Given the description of an element on the screen output the (x, y) to click on. 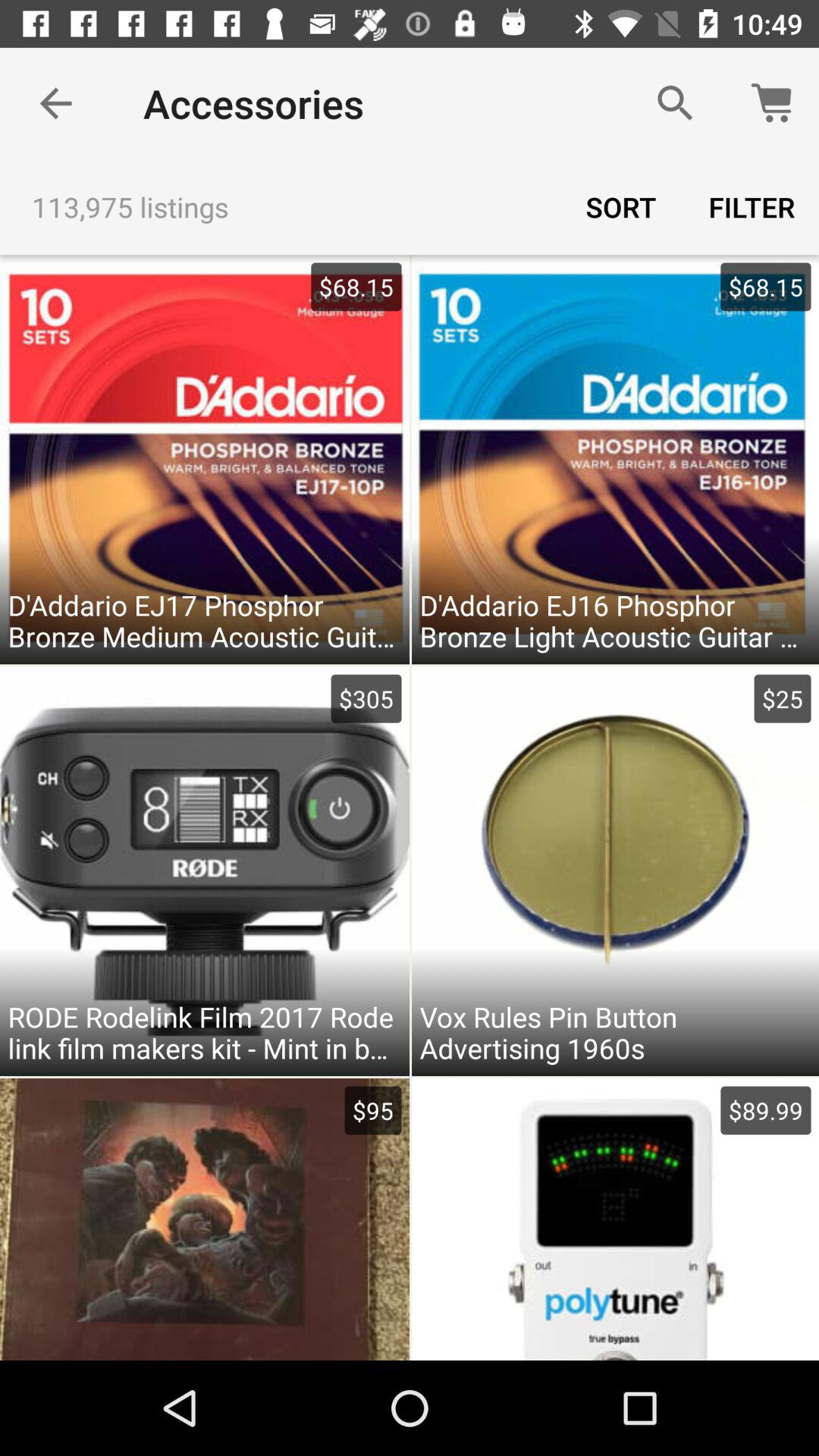
click the item above the 113,975 listings (55, 103)
